Given the description of an element on the screen output the (x, y) to click on. 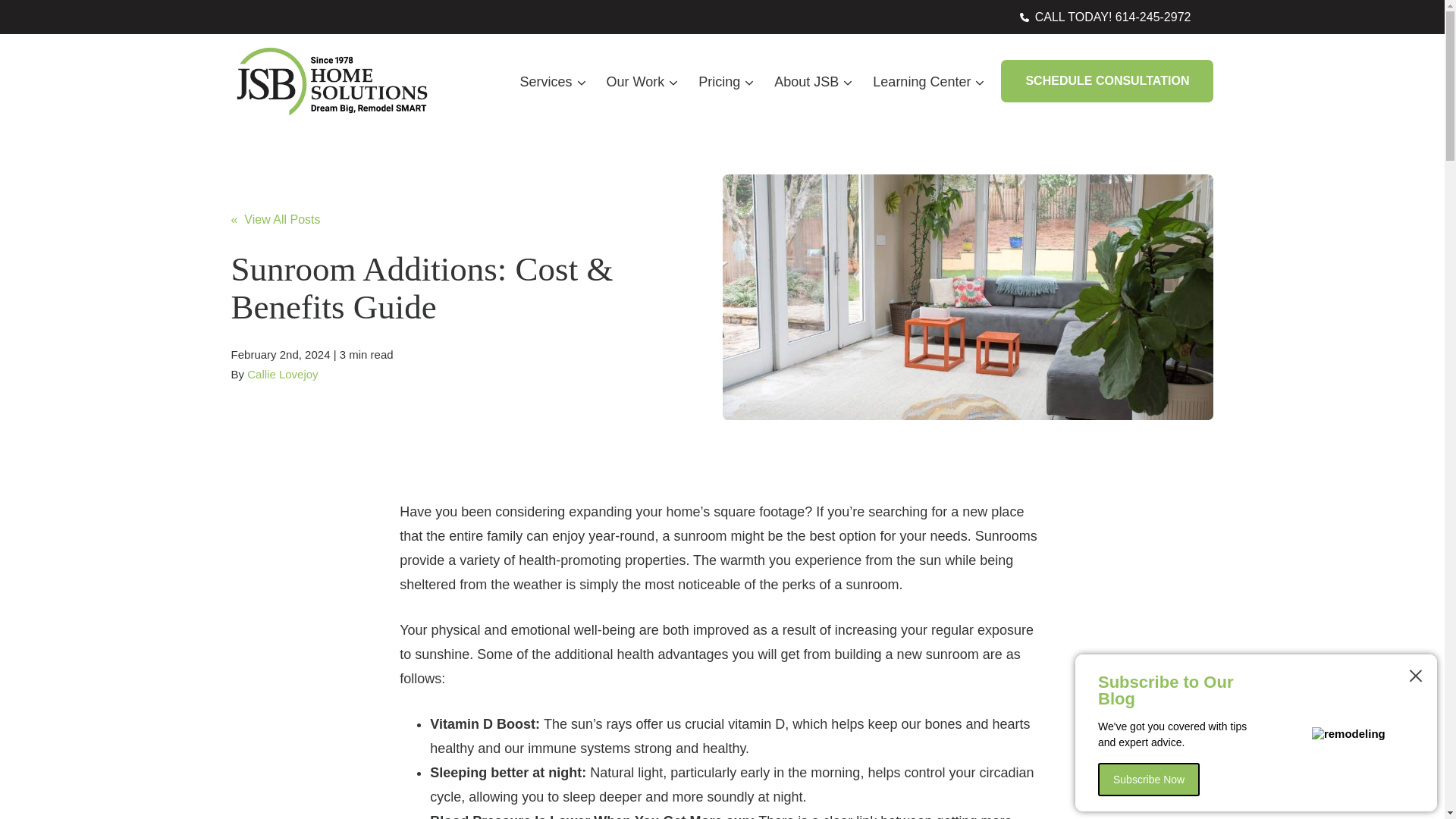
CALL TODAY! 614-245-2972 (1105, 17)
Pricing (724, 81)
Our Work (641, 81)
Callie Lovejoy (282, 373)
About JSB (811, 81)
Popup CTA (1256, 732)
Learning Center (926, 81)
SCHEDULE CONSULTATION (1106, 80)
Services (551, 81)
